Given the description of an element on the screen output the (x, y) to click on. 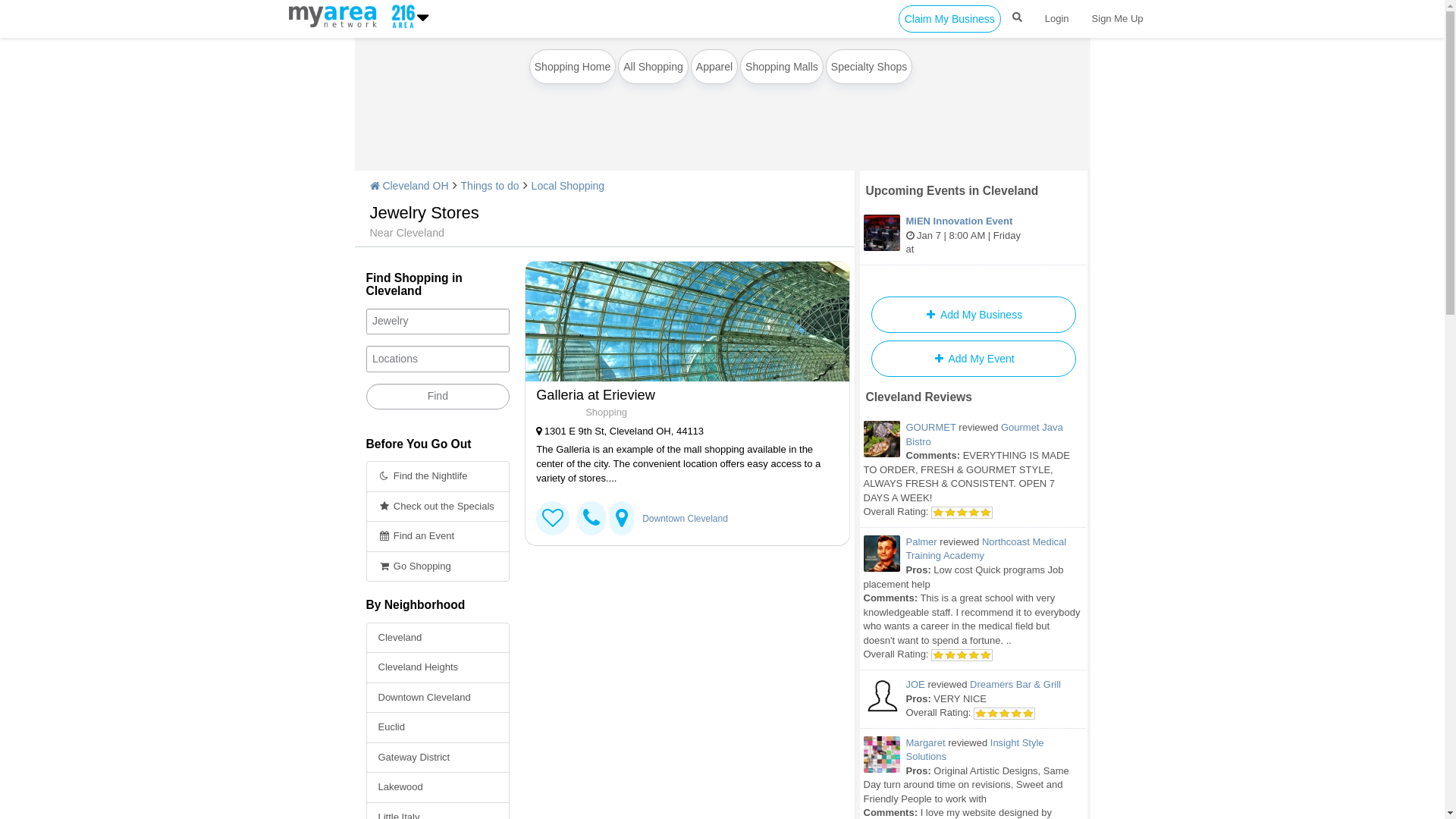
Apparel Element type: text (713, 66)
Northcoast Medical Training Academy Element type: text (985, 548)
Business Location Element type: hover (621, 518)
Find Element type: text (437, 396)
Downtown Cleveland Element type: text (437, 697)
Find an Event Element type: text (437, 536)
Things to do Element type: text (490, 185)
JOE Element type: text (914, 684)
1301 E 9th St, Cleveland OH, 44113 Element type: text (680, 431)
Dreamers Bar & Grill Element type: text (1014, 684)
Shopping Malls Element type: text (781, 66)
Find the Nightlife Element type: text (437, 476)
Connect Element type: hover (552, 518)
Cleveland Reviews Element type: text (919, 396)
Login Element type: text (1056, 18)
Gateway District Element type: text (437, 757)
Galleria at Erieview Element type: hover (687, 321)
Cleveland Heights Element type: text (437, 667)
Sign Me Up Element type: text (1117, 18)
https://www.216area.com Element type: hover (400, 15)
Add My Event Element type: text (972, 358)
Margaret Element type: text (924, 742)
Cleveland Element type: text (437, 637)
MiEN Innovation Event
Jan 7 | 8:00 AM | Friday
at Element type: text (973, 236)
tel:216-621-9999 Element type: hover (591, 518)
All Shopping Element type: text (653, 66)
Upcoming Events in Cleveland Element type: text (952, 190)
Local Shopping Element type: text (568, 185)
Downtown Cleveland Element type: text (684, 518)
Go Shopping Element type: text (437, 566)
Check out the Specials Element type: text (437, 506)
GOURMET Element type: text (930, 427)
Palmer Element type: text (920, 541)
https://www.216area.com Element type: hover (335, 15)
Insight Style Solutions Element type: text (974, 749)
Lakewood Element type: text (437, 787)
Shopping Home Element type: text (572, 66)
Add My Business Element type: text (972, 314)
Gourmet Java Bistro Element type: text (983, 434)
Claim My Business Element type: text (949, 18)
Cleveland OH Element type: text (409, 185)
Euclid Element type: text (437, 727)
Specialty Shops Element type: text (868, 66)
Galleria at Erieview Element type: text (680, 394)
